Given the description of an element on the screen output the (x, y) to click on. 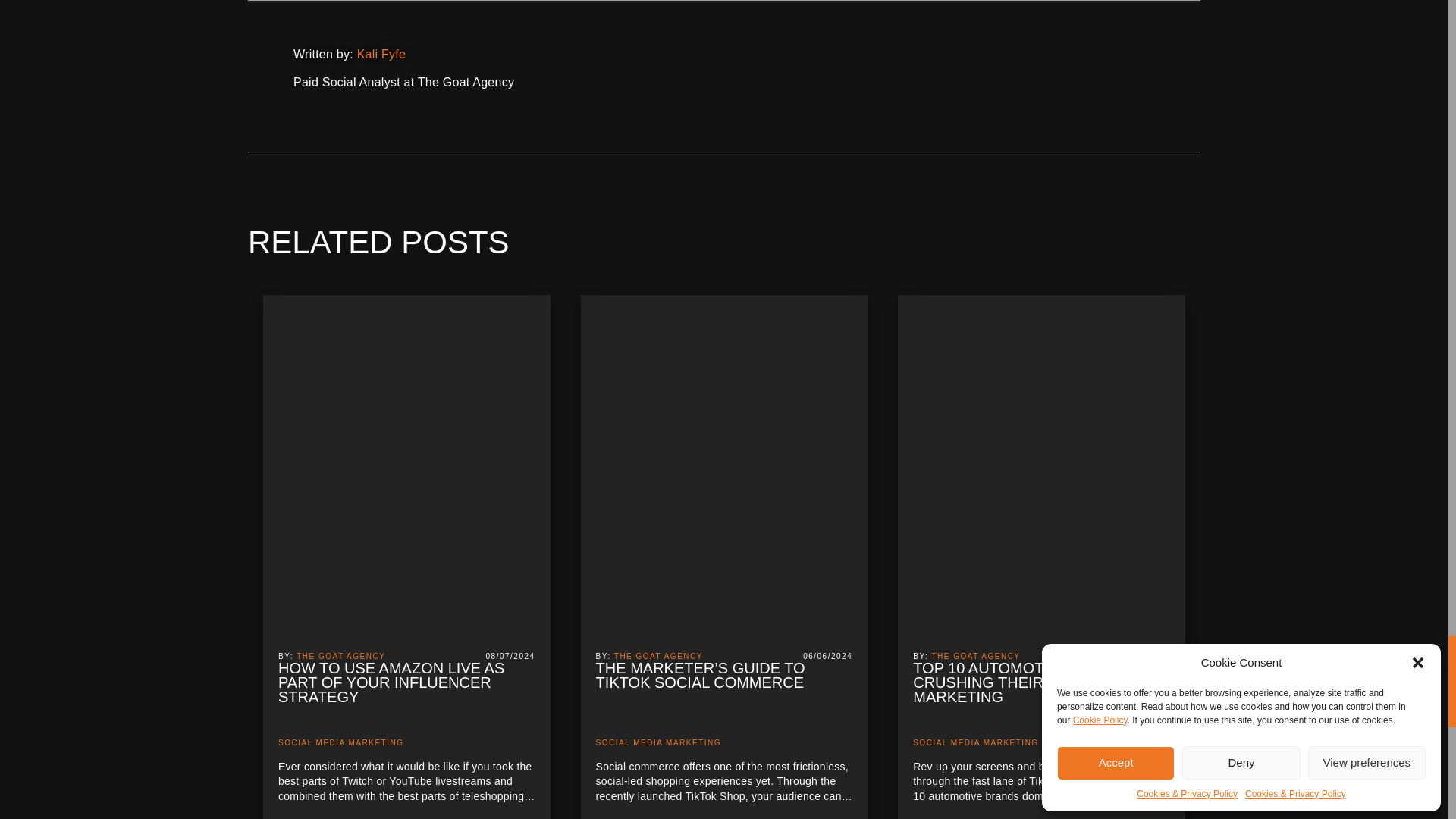
SOCIAL MEDIA MARKETING (340, 742)
Kali Fyfe (381, 53)
THE GOAT AGENCY (658, 655)
THE GOAT AGENCY (341, 655)
HOW TO USE AMAZON LIVE AS PART OF YOUR INFLUENCER STRATEGY (406, 691)
How to use Amazon Live as part of your influencer strategy (406, 691)
